Given the description of an element on the screen output the (x, y) to click on. 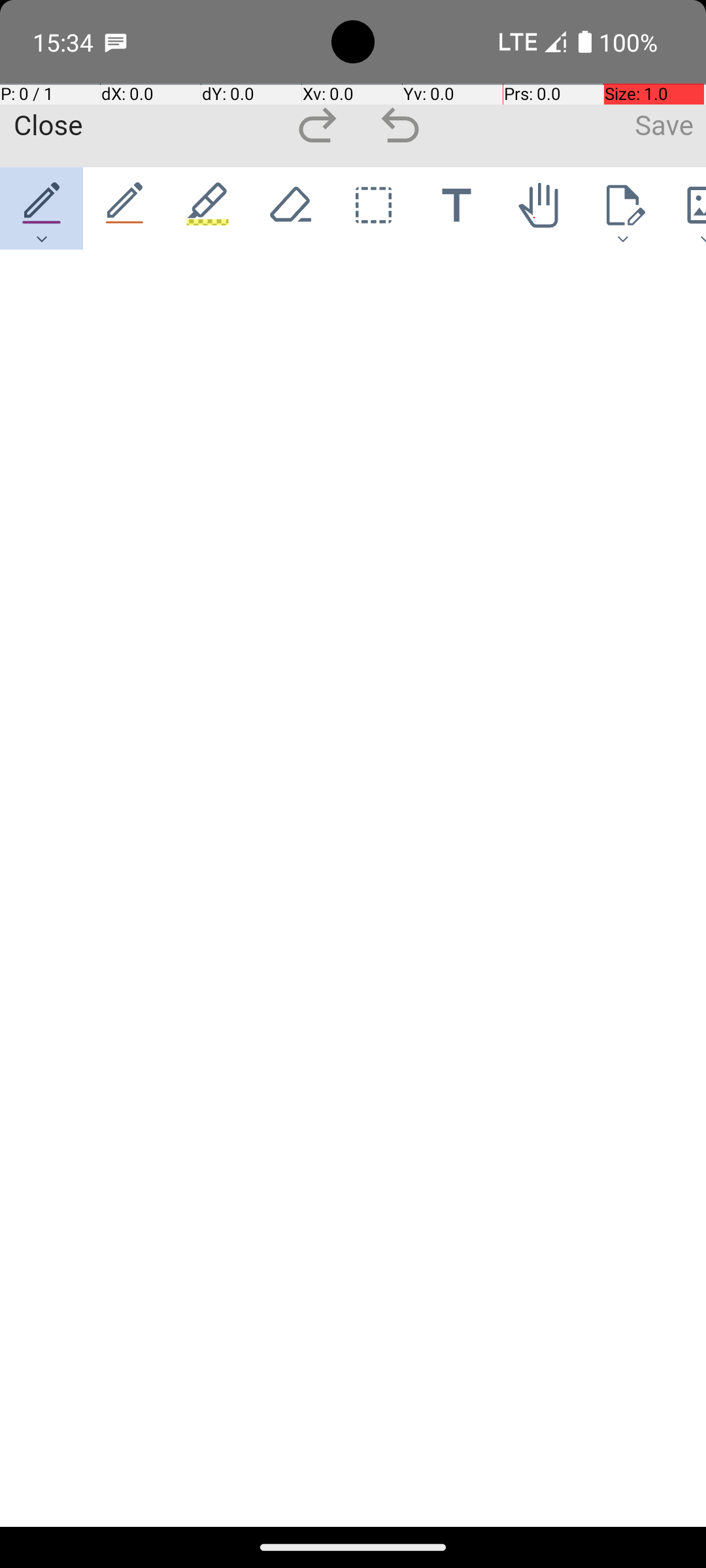
Done loading. Element type: android.widget.TextView (48, 281)
Re-render as text Element type: android.widget.Button (47, 308)
Enable sound-based exploration Element type: android.widget.Button (70, 309)
Pen 1 Element type: android.widget.ToggleButton (41, 208)
Pen 2 Element type: android.widget.Button (125, 208)
Pen 3 Element type: android.widget.Button (207, 208)
Pan Element type: android.widget.Button (540, 208)
Page Element type: android.widget.Button (622, 208)
